Given the description of an element on the screen output the (x, y) to click on. 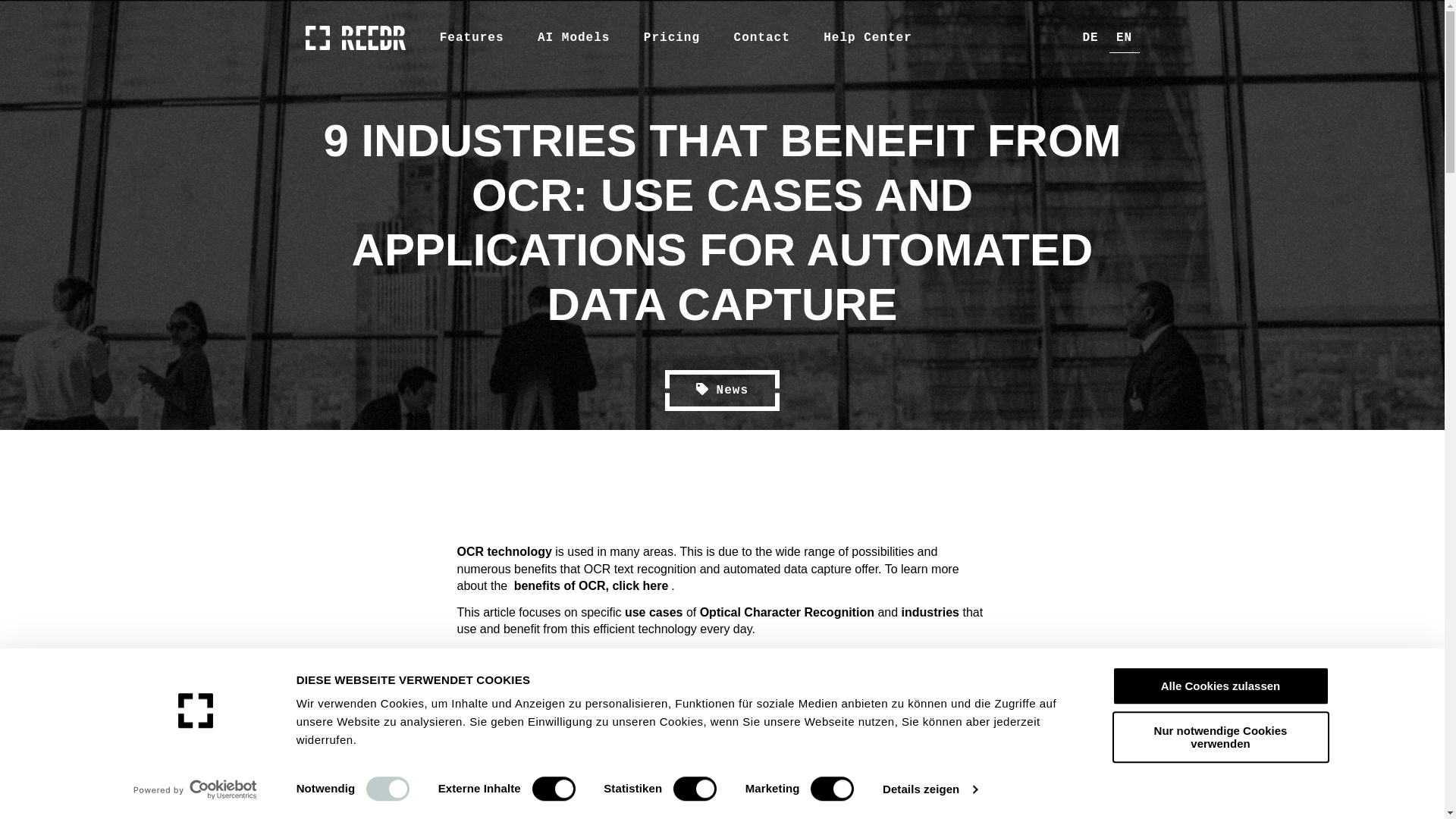
Alle Cookies zulassen (1219, 685)
Contact (761, 37)
EN (1123, 37)
benefits of OCR, click here (591, 585)
Pricing (671, 37)
DE (1090, 37)
AI Models (573, 37)
News (721, 390)
Details zeigen (929, 789)
Help Center (867, 37)
Features (472, 37)
here (813, 654)
Nur notwendige Cookies verwenden (1219, 737)
